Given the description of an element on the screen output the (x, y) to click on. 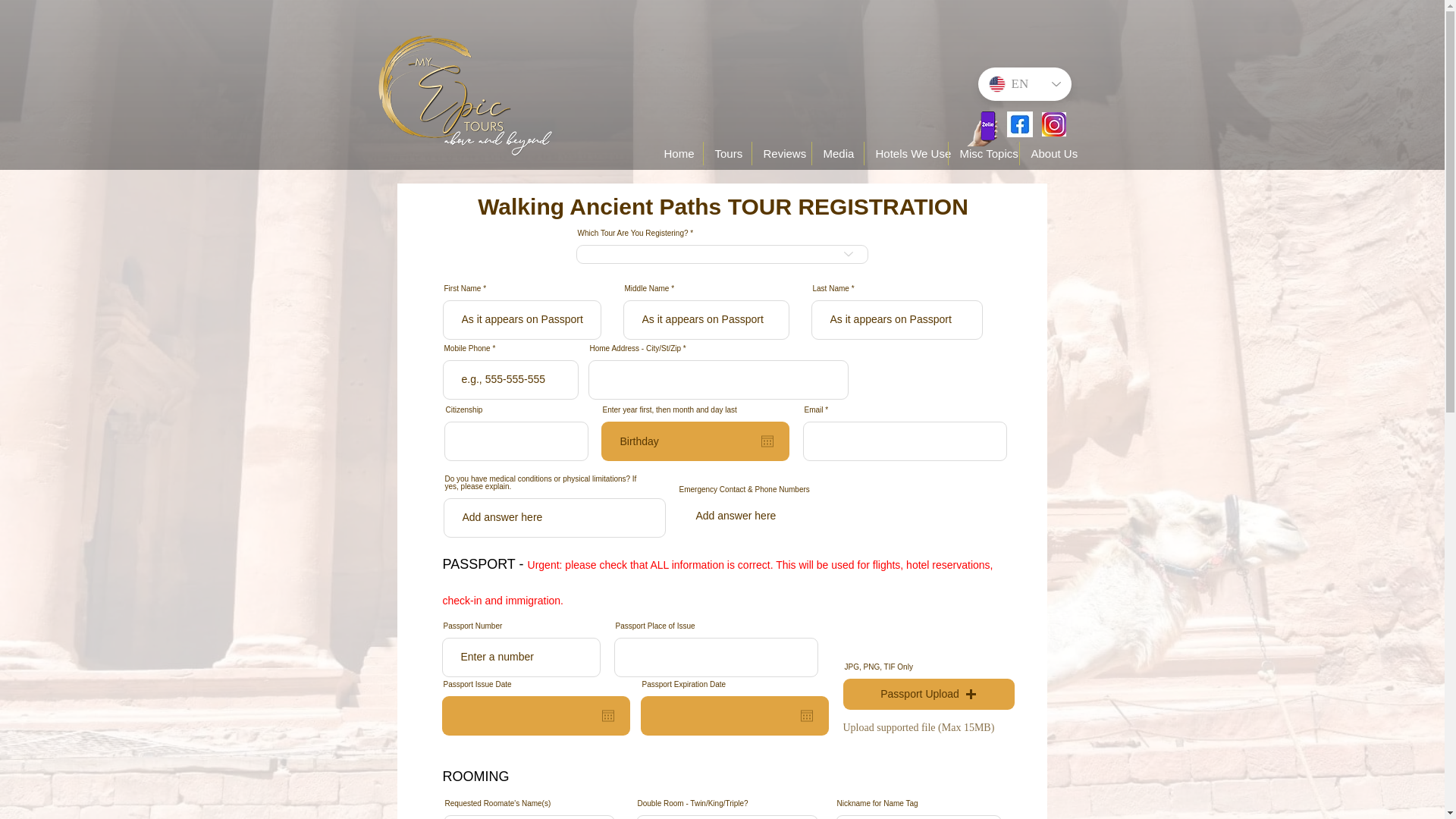
Reviews (781, 153)
Home (676, 153)
